Given the description of an element on the screen output the (x, y) to click on. 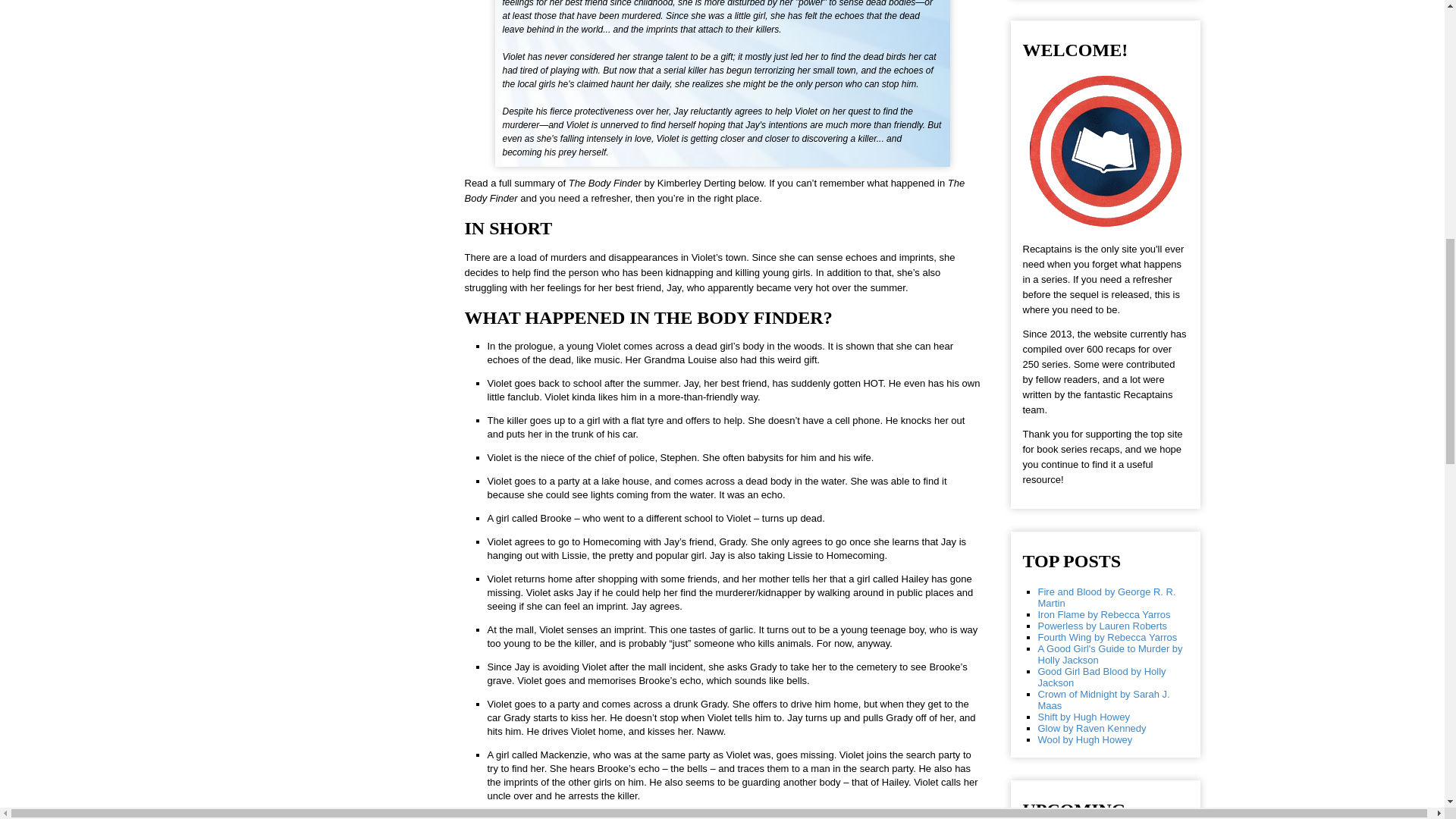
Good Girl Bad Blood by Holly Jackson (1101, 676)
Fire and Blood by George R. R. Martin (1105, 597)
Powerless by Lauren Roberts (1101, 625)
Fourth Wing by Rebecca Yarros (1106, 636)
Iron Flame by Rebecca Yarros (1103, 614)
A Good Girl's Guide to Murder by Holly Jackson (1109, 653)
